Given the description of an element on the screen output the (x, y) to click on. 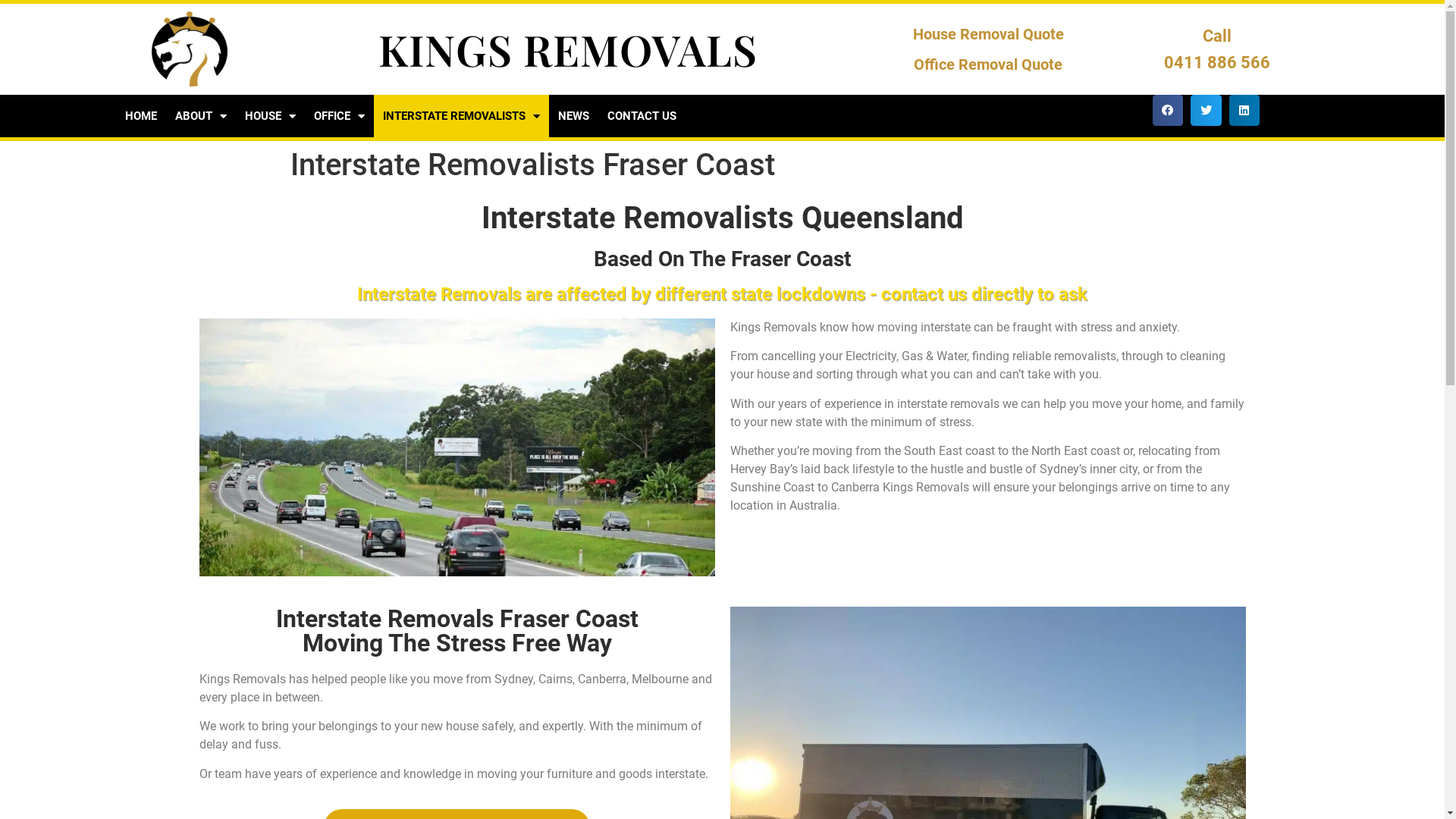
CONTACT US Element type: text (640, 115)
House Removal Quote Element type: text (988, 34)
NEWS Element type: text (573, 115)
OFFICE Element type: text (338, 115)
HOME Element type: text (140, 115)
ABOUT Element type: text (200, 115)
Call
0411 886 566 Element type: text (1217, 49)
HOUSE Element type: text (269, 115)
INTERSTATE REMOVALISTS Element type: text (460, 115)
Office Removal Quote Element type: text (987, 64)
